Given the description of an element on the screen output the (x, y) to click on. 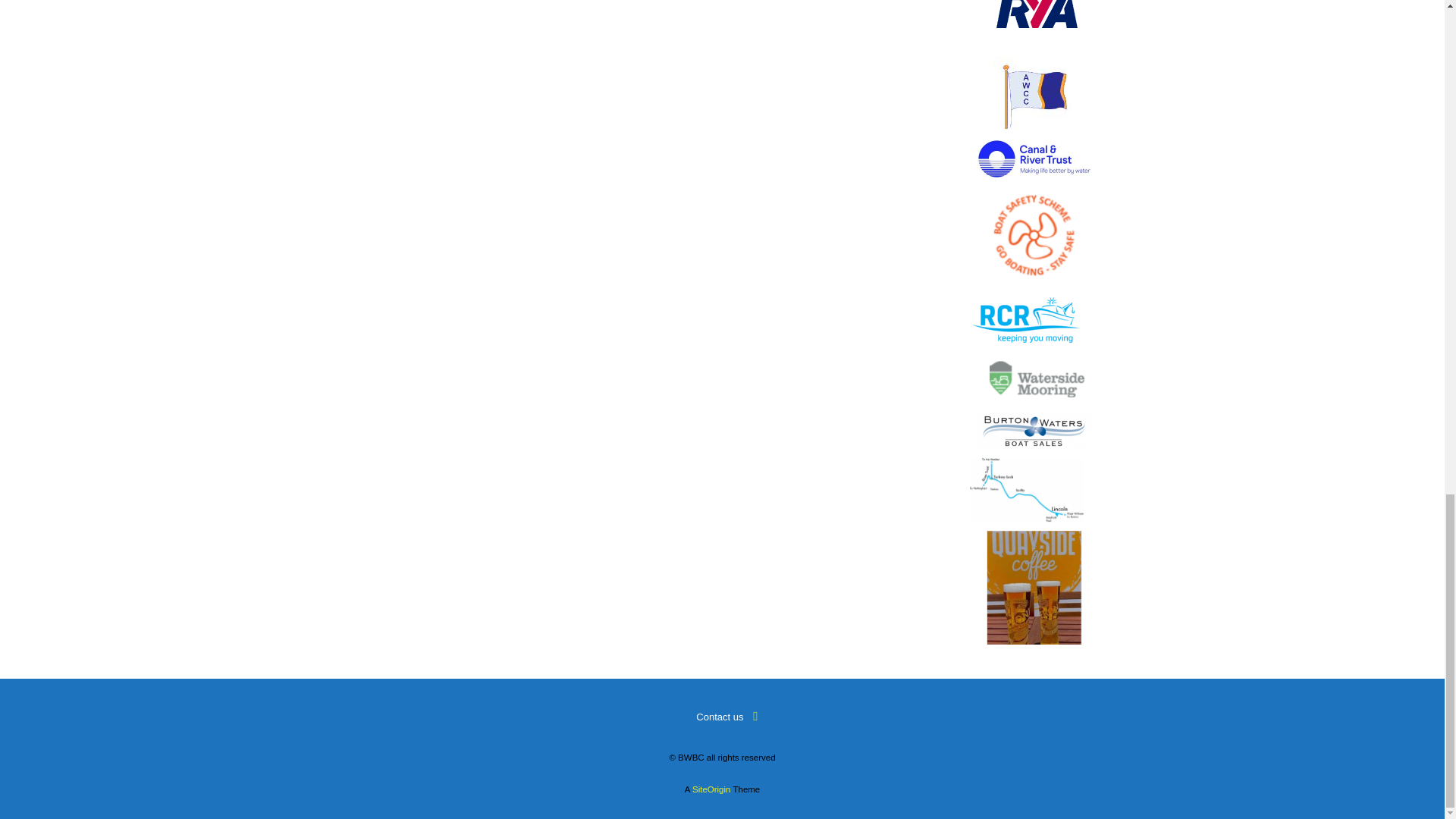
Canal and River Trusts (1033, 158)
Boat Safety Scheme (1033, 235)
River Canal Rescue (1026, 320)
CRT Route planning, notices and stoppages (1026, 490)
Burton Waters Boat Sales, Marina facilities and Chandlery (1033, 431)
Associated member of Royal Yachting Association (1034, 24)
CRT National Waterside Moorings (1033, 379)
